Given the description of an element on the screen output the (x, y) to click on. 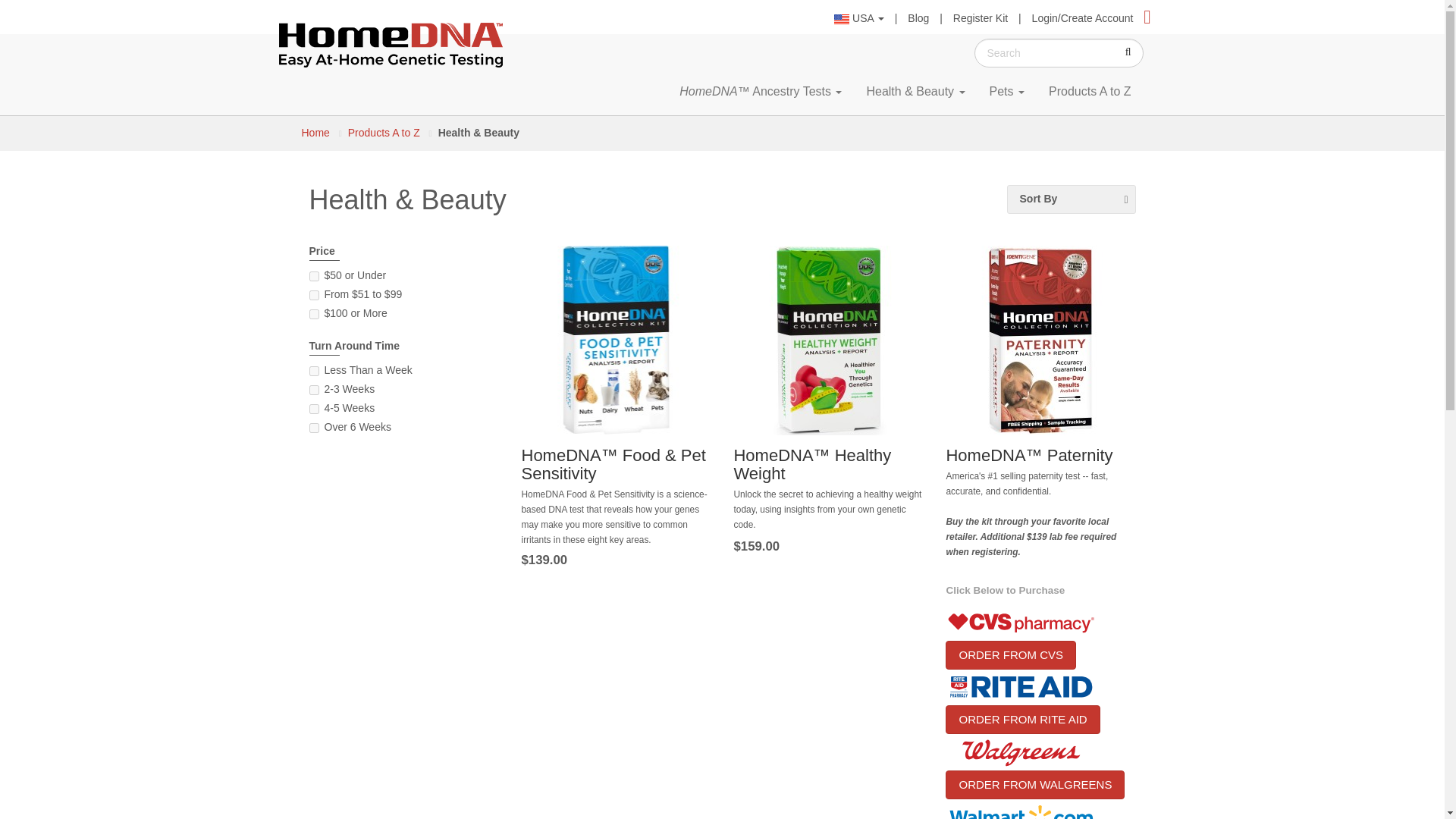
4-to-5-weeks (313, 409)
less-than-a-week (313, 370)
Home (390, 41)
over-6-weeks (313, 428)
100-or-more (313, 314)
Register Kit (980, 18)
 USA (858, 18)
2-3-weeks (313, 389)
Blog (917, 18)
Products A to Z (1089, 91)
Pets (1006, 91)
from-50-99 (313, 295)
50-or-under (313, 276)
